Given the description of an element on the screen output the (x, y) to click on. 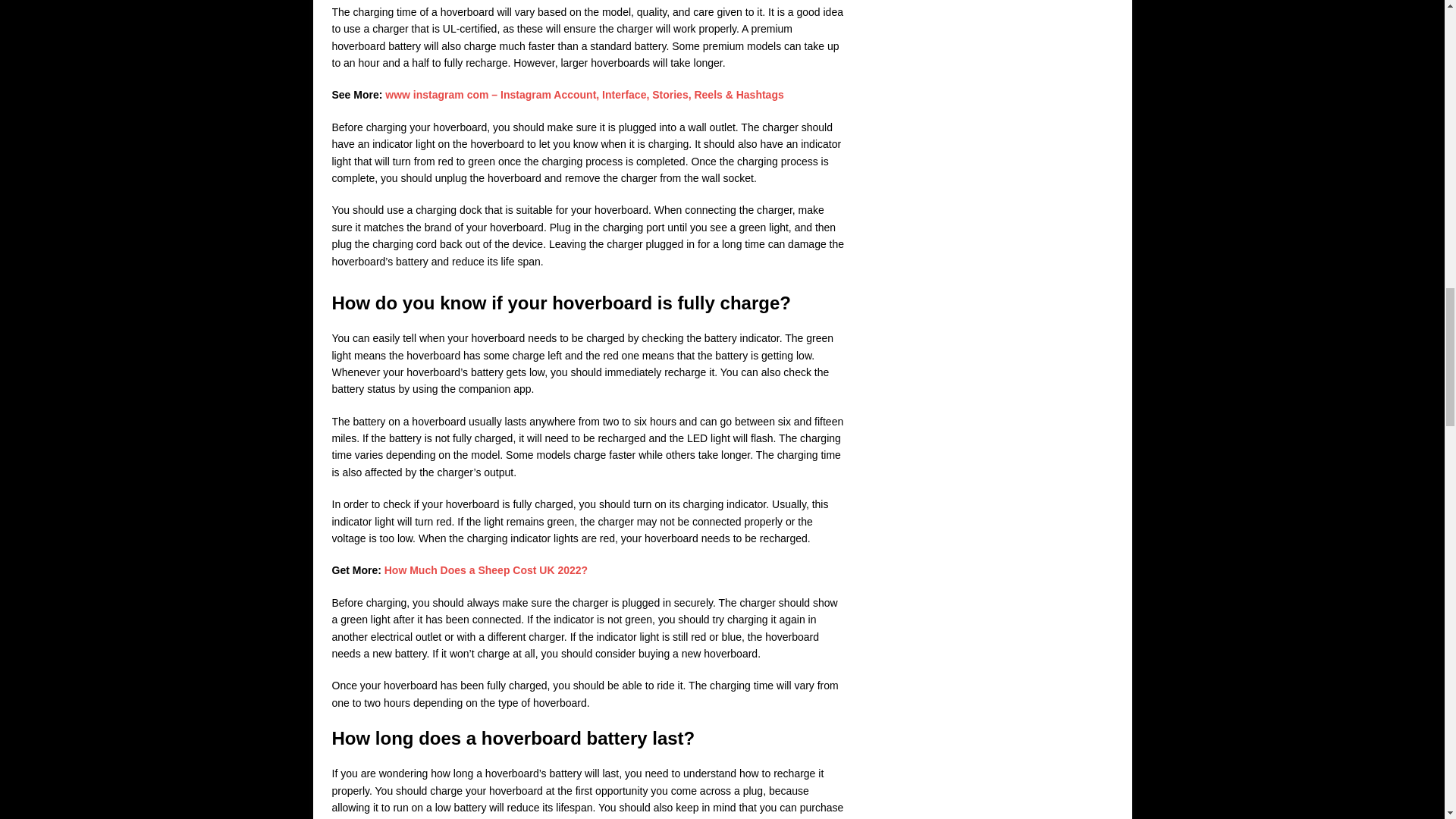
How Much Does a Sheep Cost UK 2022? (486, 570)
